Given the description of an element on the screen output the (x, y) to click on. 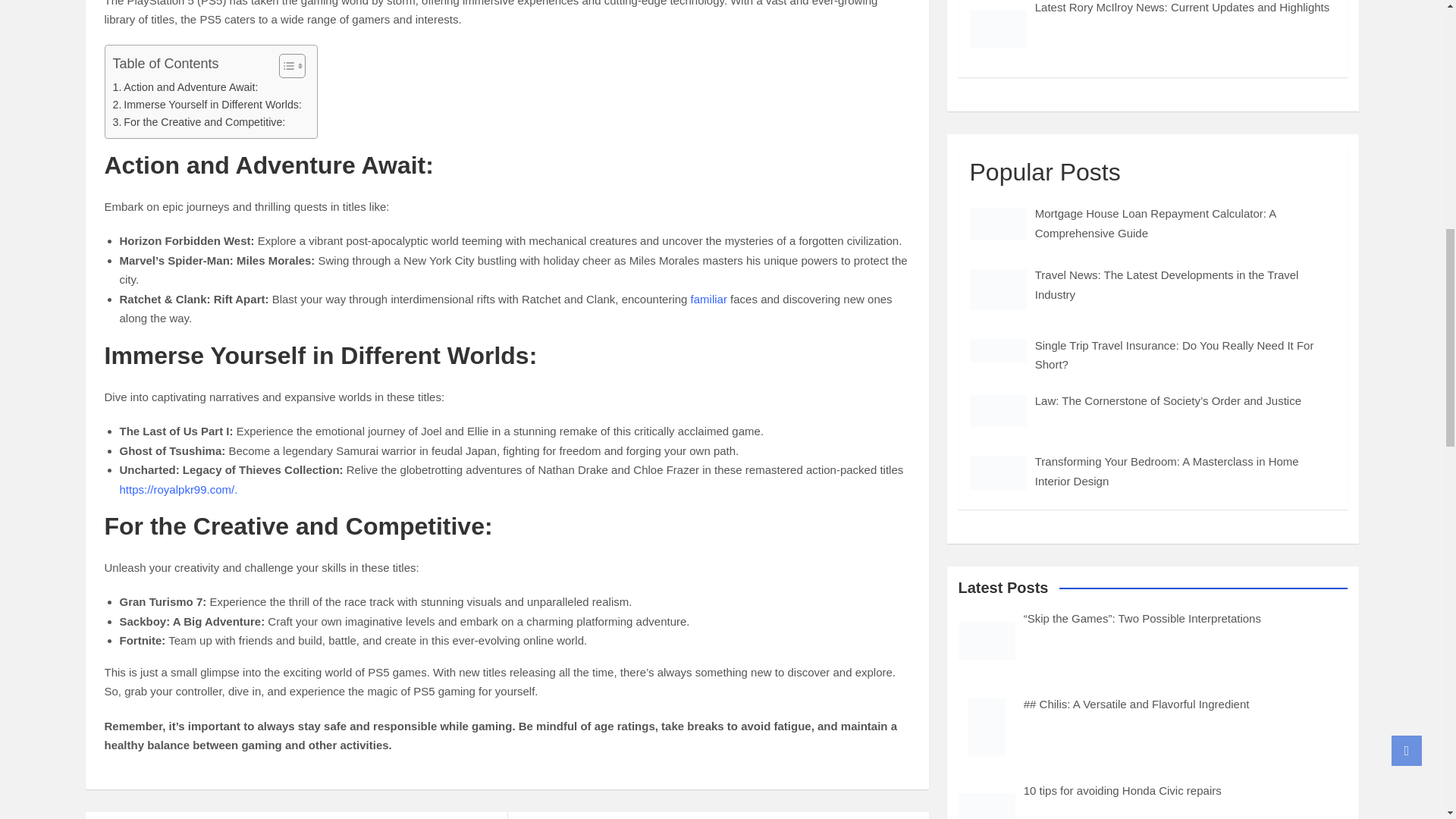
Action and Adventure Await: (184, 87)
For the Creative and Competitive: (198, 122)
Immerse Yourself in Different Worlds: (206, 104)
Latest Rory McIlroy News: Current Updates and Highlights (997, 28)
10 tips for avoiding Honda Civic repairs (986, 801)
Travel News: The Latest Developments in the Travel Industry (997, 289)
